Given the description of an element on the screen output the (x, y) to click on. 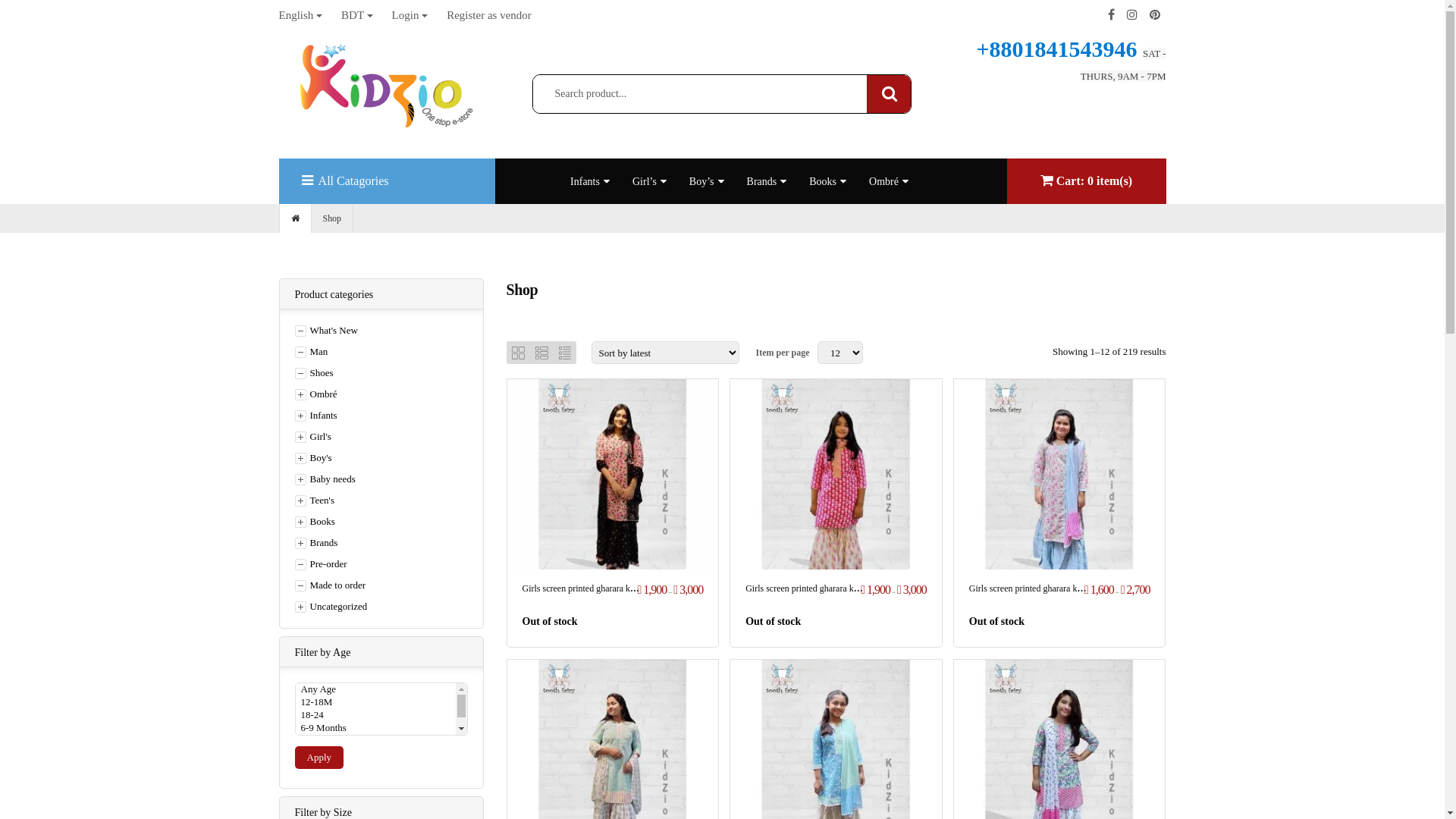
Apply Element type: text (318, 757)
Boy's Element type: text (312, 457)
Girls screen printed gharara kameez set Element type: text (593, 588)
Made to order Element type: text (329, 584)
Books Element type: text (314, 521)
instagram Element type: hover (1131, 15)
Brands Element type: text (761, 181)
pinterest Element type: hover (1154, 15)
Search Element type: text (889, 92)
Infants Element type: text (584, 181)
facebook Element type: hover (1110, 15)
Teen's Element type: text (313, 499)
Infants Element type: text (315, 414)
Baby needs Element type: text (324, 478)
Cart: 0 item(s) Element type: text (1086, 180)
English Element type: text (301, 15)
Girls screen printed gharara kameez set Element type: text (817, 588)
What's New Element type: text (325, 329)
Shoes Element type: text (313, 372)
Girls screen printed gharara kameez set Element type: text (1041, 588)
Register as vendor Element type: text (488, 15)
Pre-order Element type: text (320, 563)
Brands Element type: text (315, 542)
BDT Element type: text (356, 15)
Girl's Element type: text (312, 436)
Uncategorized Element type: text (330, 605)
Login Element type: text (410, 15)
Books Element type: text (822, 181)
Man Element type: text (310, 351)
